Given the description of an element on the screen output the (x, y) to click on. 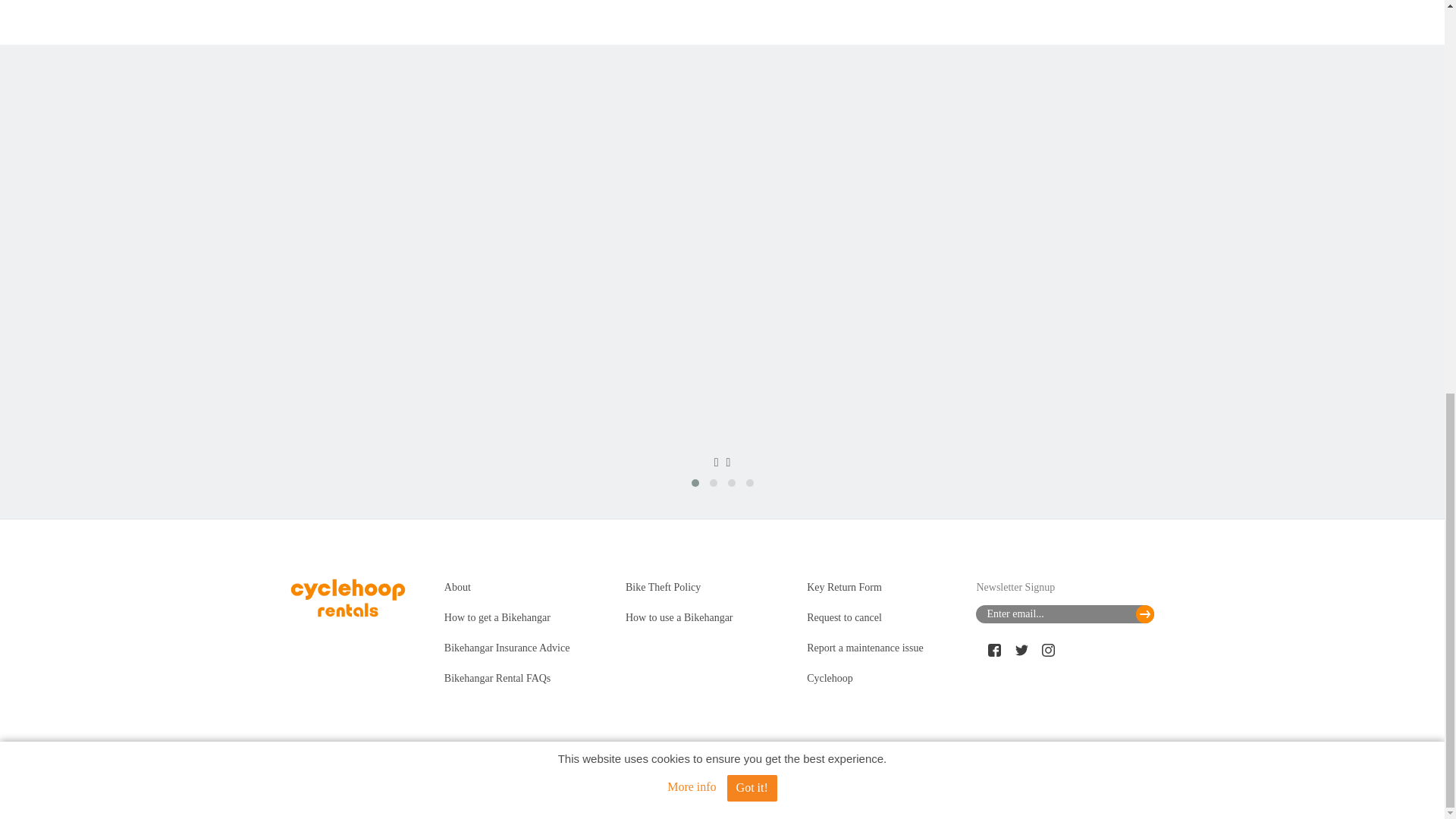
Bikehangar Insurance Advice (507, 647)
Got it! (751, 445)
How to get a Bikehangar (497, 617)
Report a maintenance issue (864, 647)
Cookie Policy (1120, 782)
Cyclehoop (829, 677)
Bikehangar Rental FAQs (497, 677)
Bike Theft Policy (663, 586)
Request to cancel (844, 617)
Bikehangar FAQs page. (1012, 143)
More info (691, 443)
About (457, 586)
How to use a Bikehangar (679, 617)
Privacy Policy (1051, 782)
Key Return Form (844, 586)
